Given the description of an element on the screen output the (x, y) to click on. 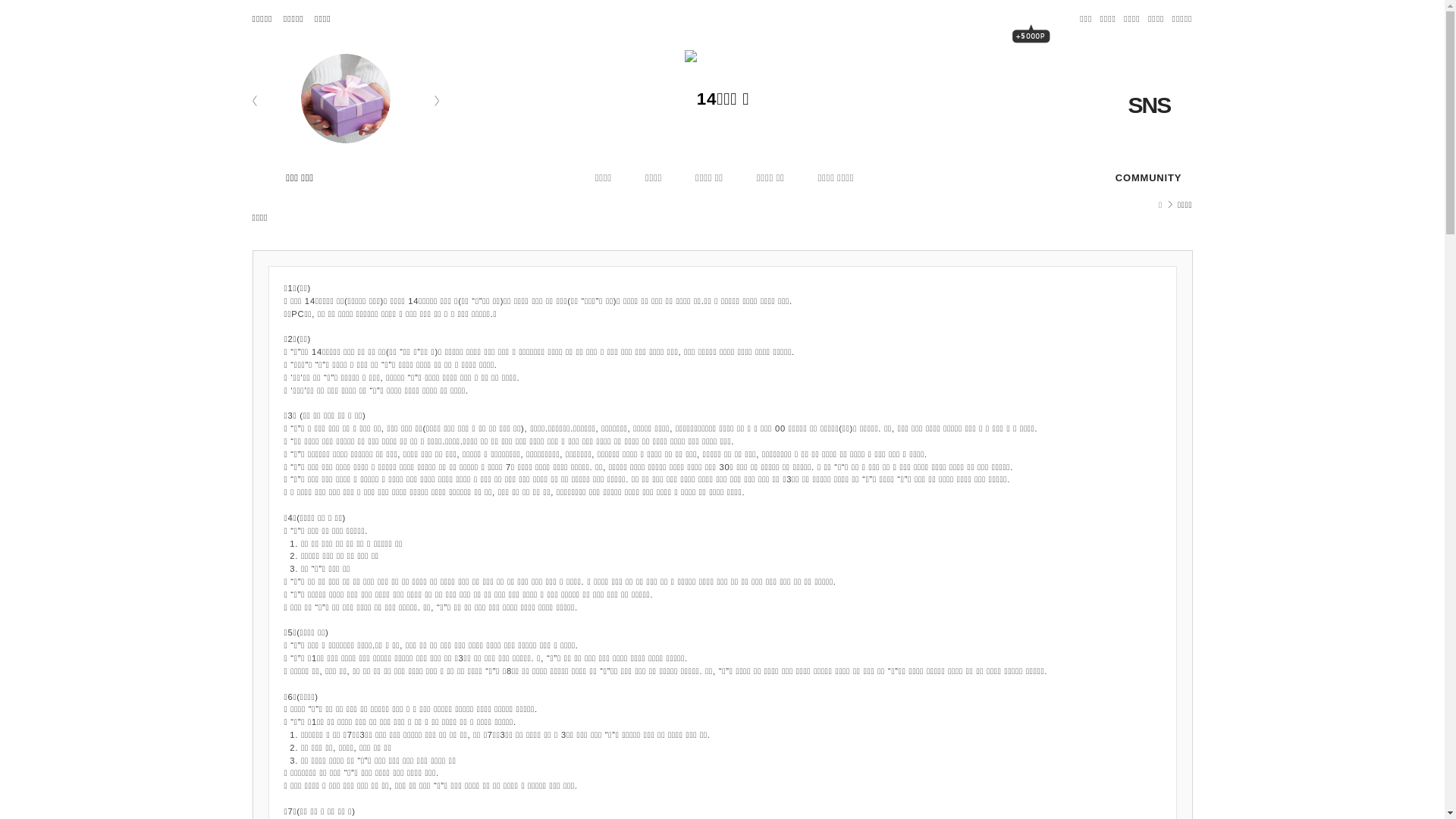
COMMUNITY Element type: text (1148, 178)
  Element type: text (721, 97)
  Element type: text (1030, 52)
SNS Element type: text (1166, 105)
